Given the description of an element on the screen output the (x, y) to click on. 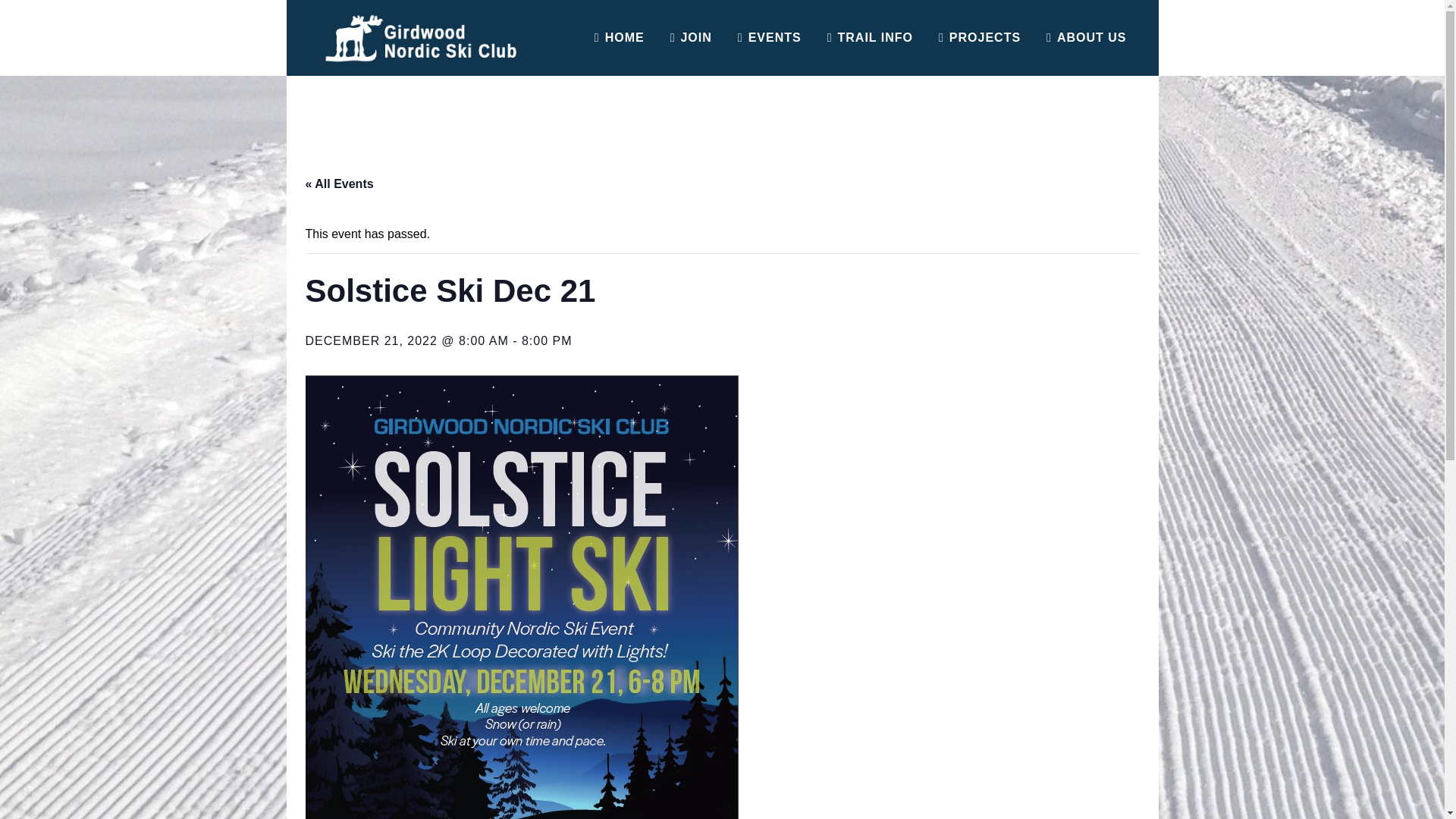
HOME (619, 38)
ABOUT US (1085, 38)
TRAIL INFO (869, 38)
PROJECTS (979, 38)
JOIN (691, 38)
EVENTS (769, 38)
